Given the description of an element on the screen output the (x, y) to click on. 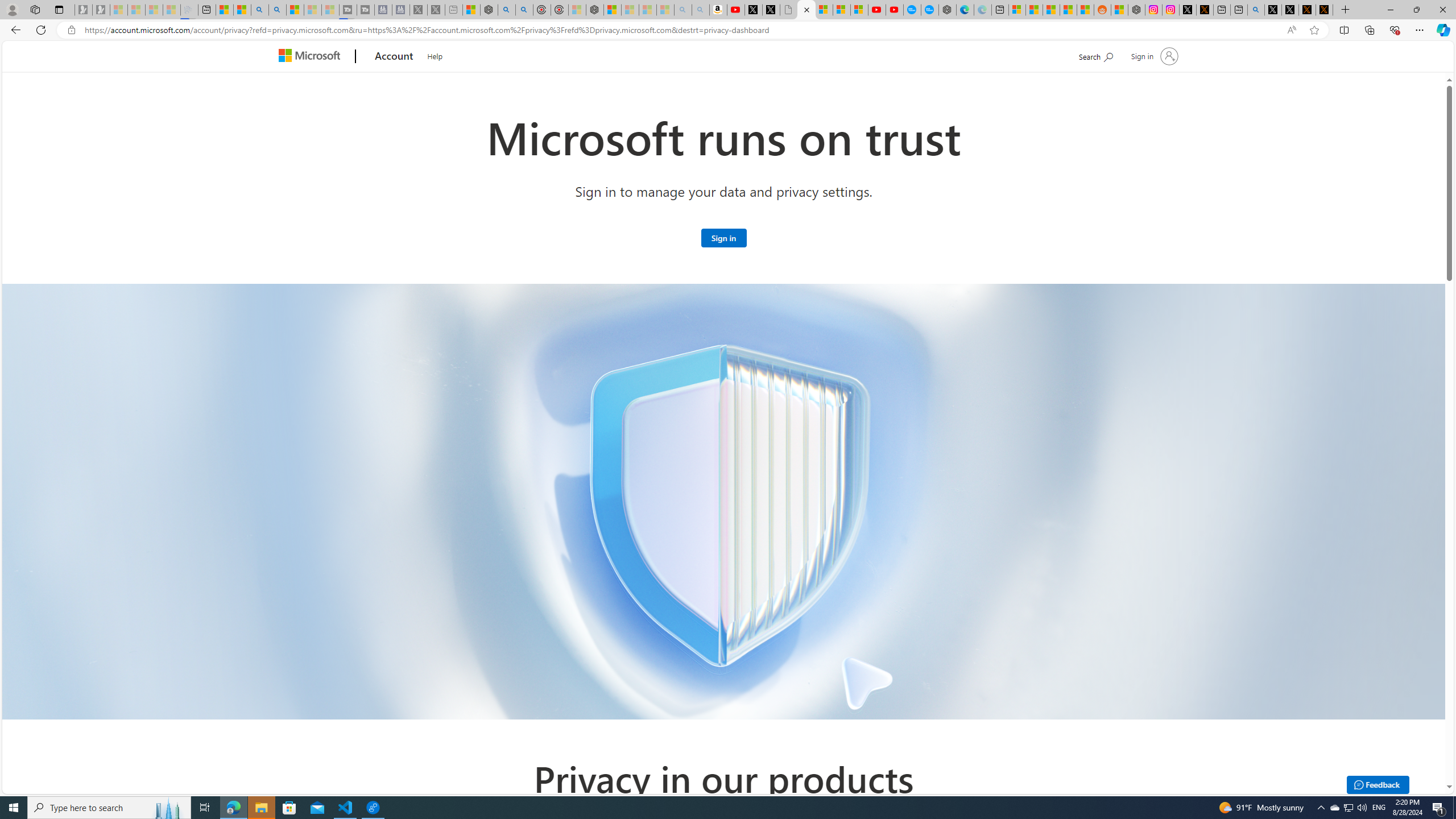
github - Search (1256, 9)
Nordace - Nordace has arrived Hong Kong (946, 9)
Microsoft (311, 56)
Sign in to your account (1153, 55)
Log in to X / X (1187, 9)
The most popular Google 'how to' searches (929, 9)
Microsoft Start - Sleeping (312, 9)
